Given the description of an element on the screen output the (x, y) to click on. 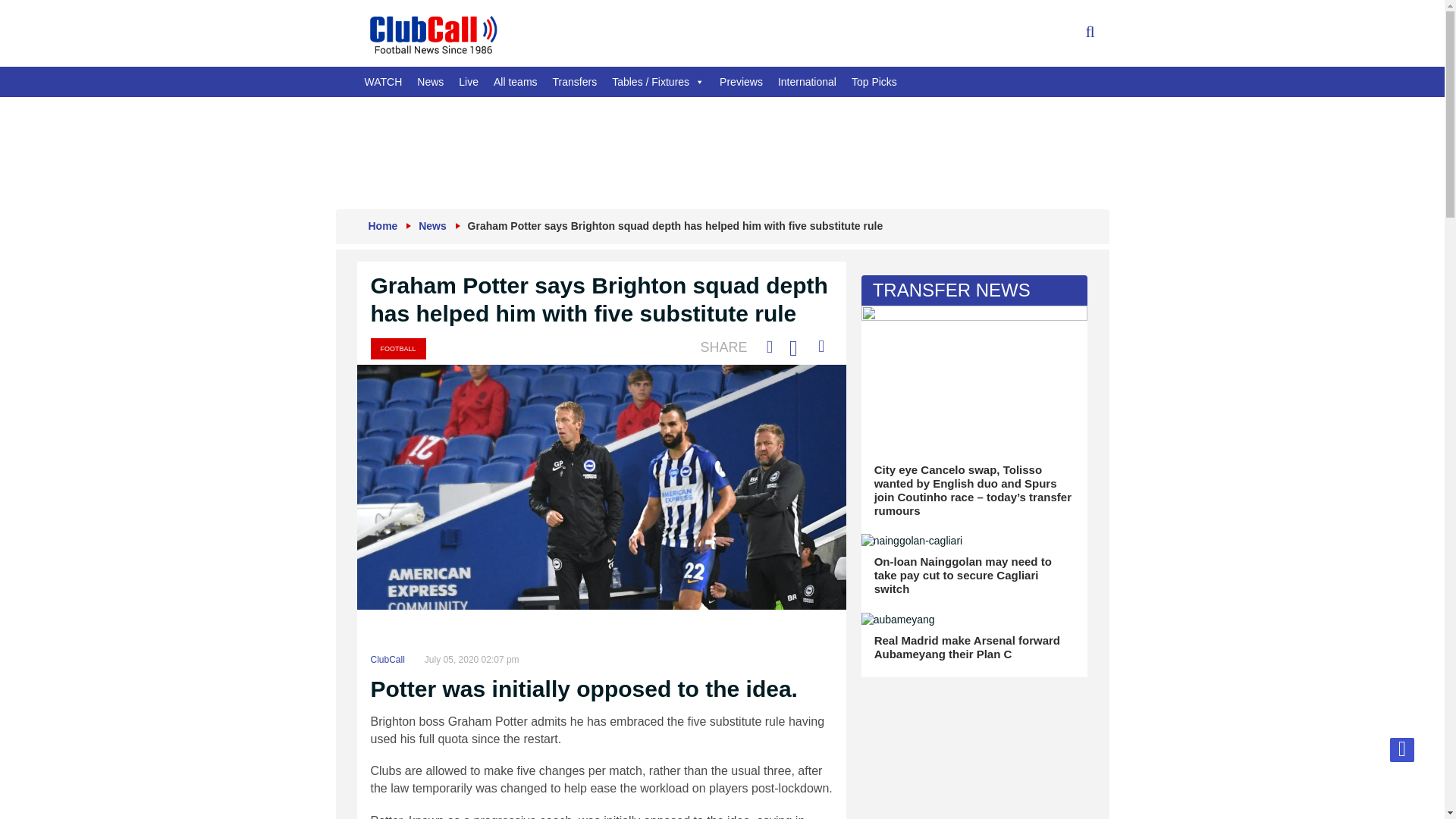
News (430, 81)
News (432, 225)
All teams (515, 81)
ClubCall (386, 659)
WATCH (382, 81)
International (807, 81)
Live (468, 81)
Top Picks (874, 81)
Previews (740, 81)
Transfers (574, 81)
